Given the description of an element on the screen output the (x, y) to click on. 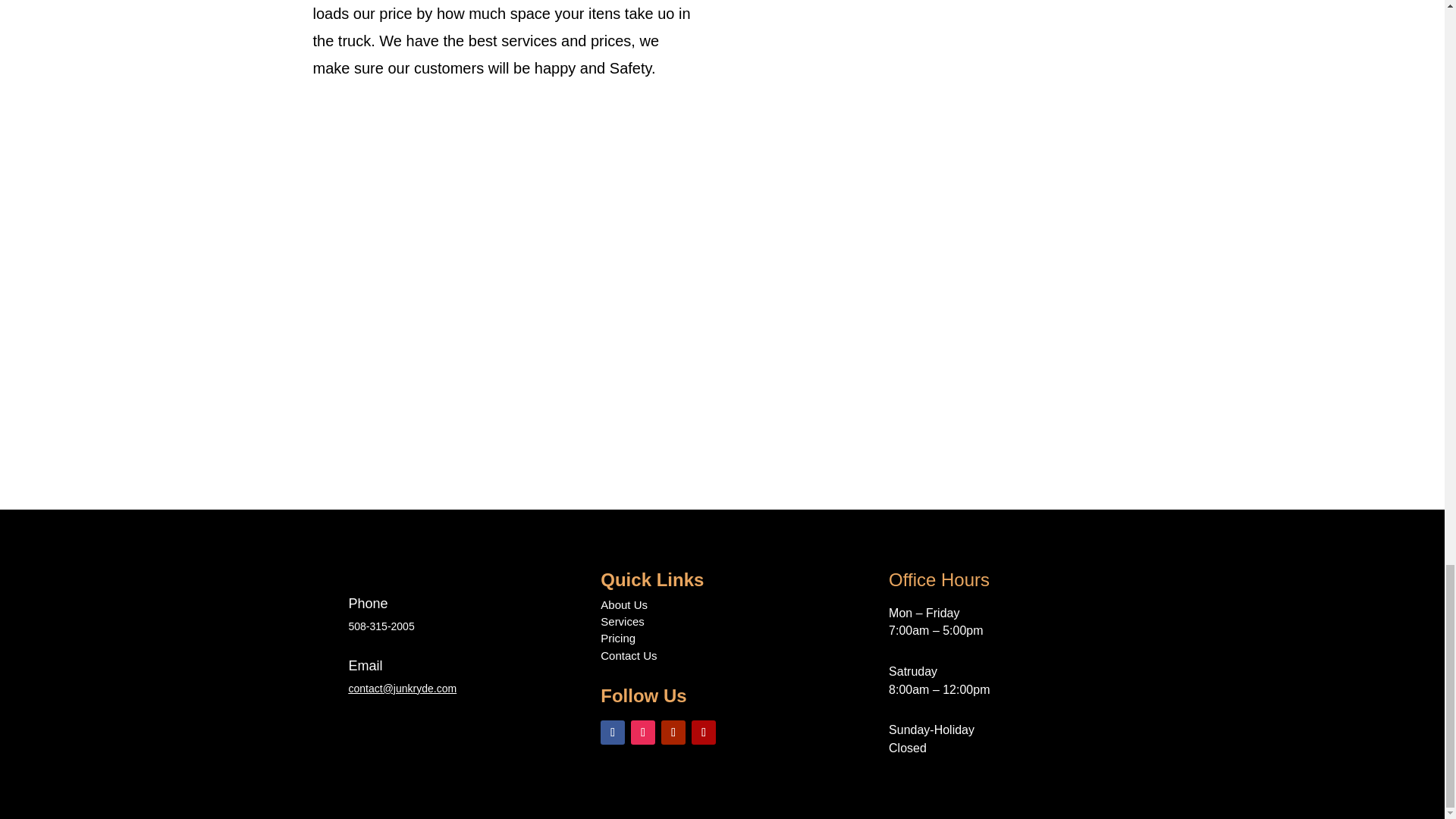
Follow on Instagram (642, 732)
Contact Us (627, 655)
Follow on Youtube (673, 732)
Services (622, 621)
Follow on Facebook (611, 732)
About Us (623, 604)
Pricing (616, 637)
Follow on Yelp (703, 732)
